Given the description of an element on the screen output the (x, y) to click on. 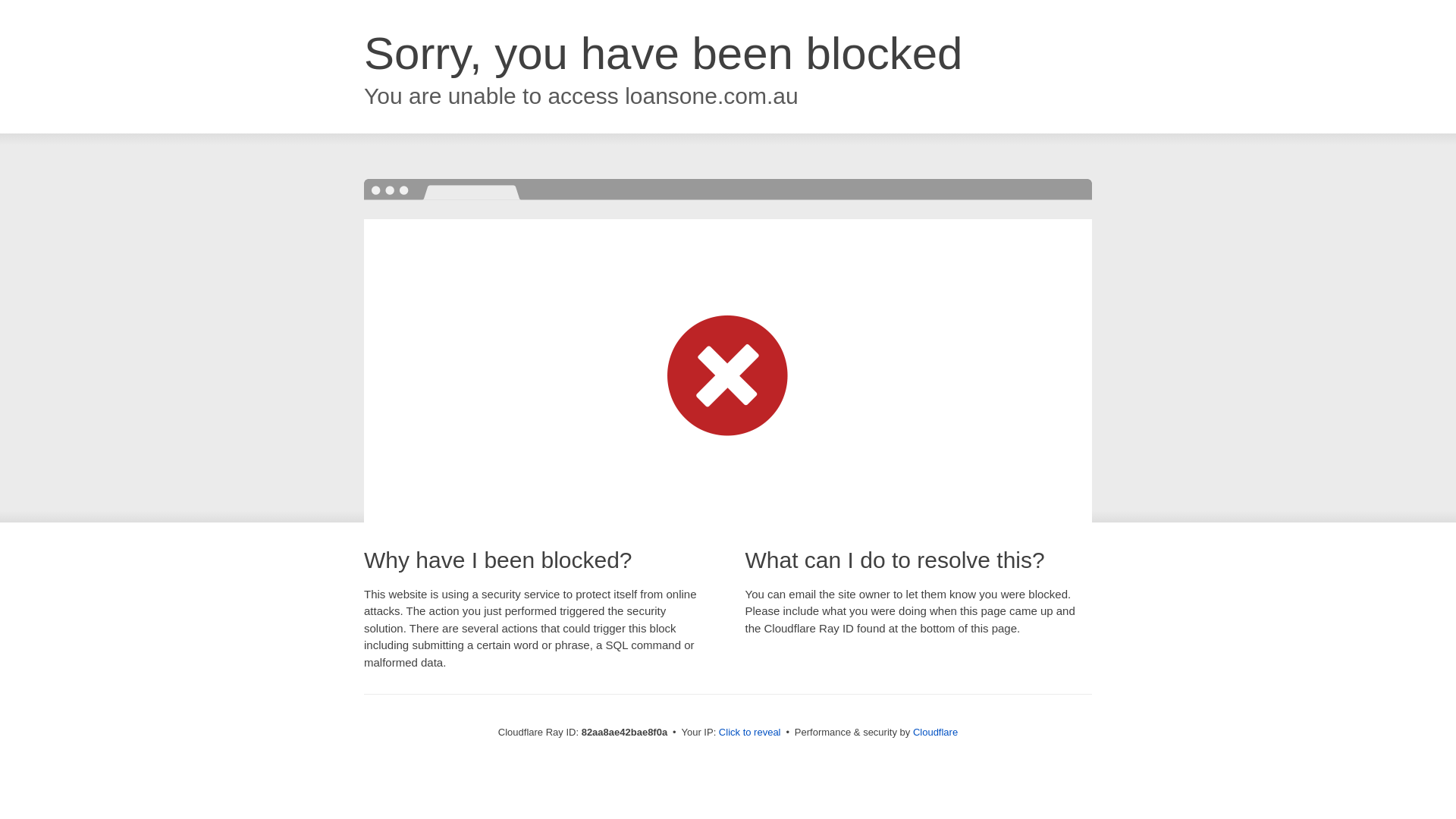
Cloudflare Element type: text (935, 731)
Click to reveal Element type: text (749, 732)
